Given the description of an element on the screen output the (x, y) to click on. 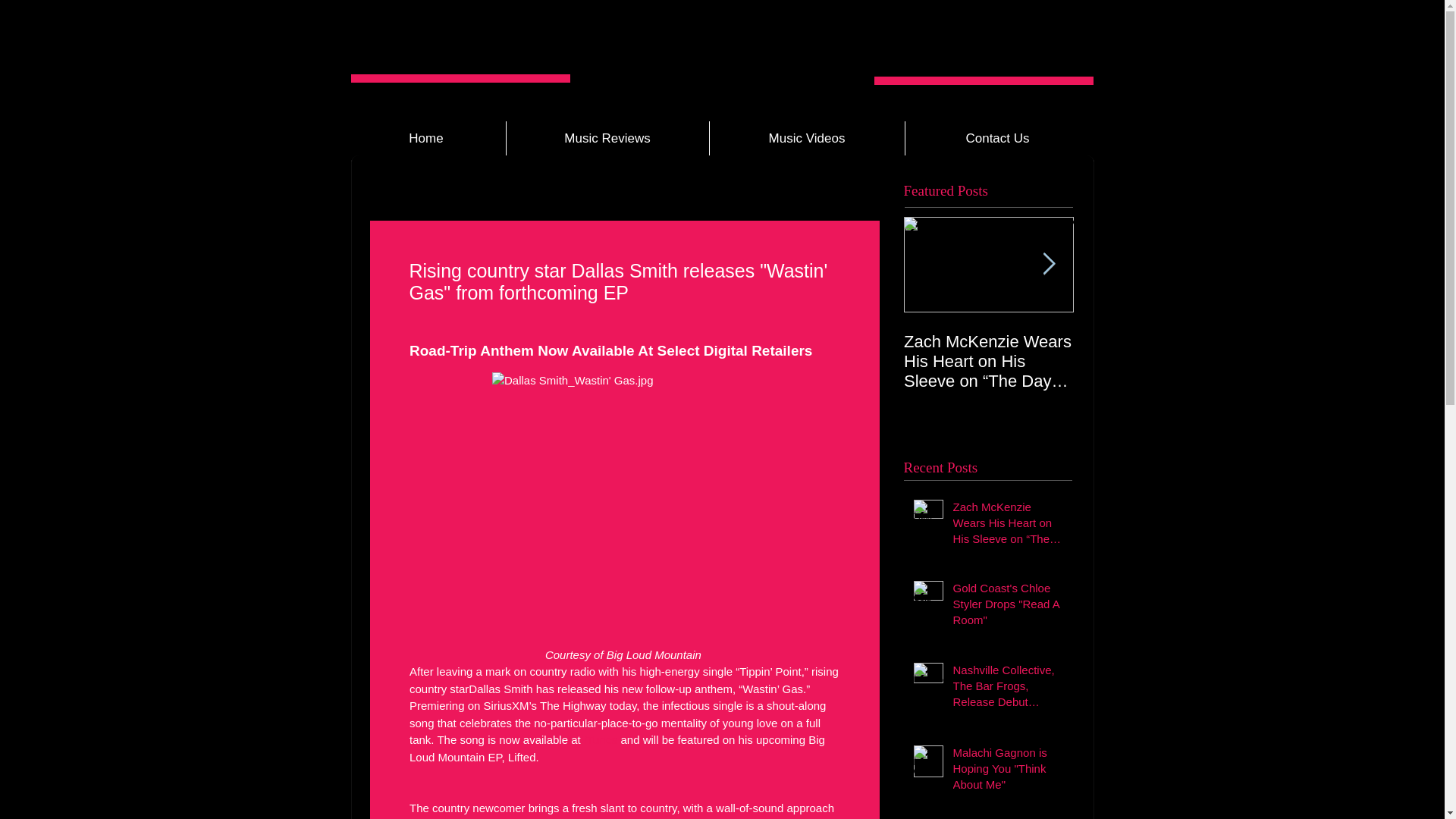
Malachi Gagnon is Hoping You "Think About Me" (1008, 771)
Gold Coast's Chloe Styler Drops "Read A Room" (1008, 606)
Music Videos (805, 138)
Gold Coast's Chloe Styler Drops "Read A Room" (1158, 361)
Music Reviews (606, 138)
Contact Us (996, 138)
iTunes (599, 739)
Home (426, 138)
